Given the description of an element on the screen output the (x, y) to click on. 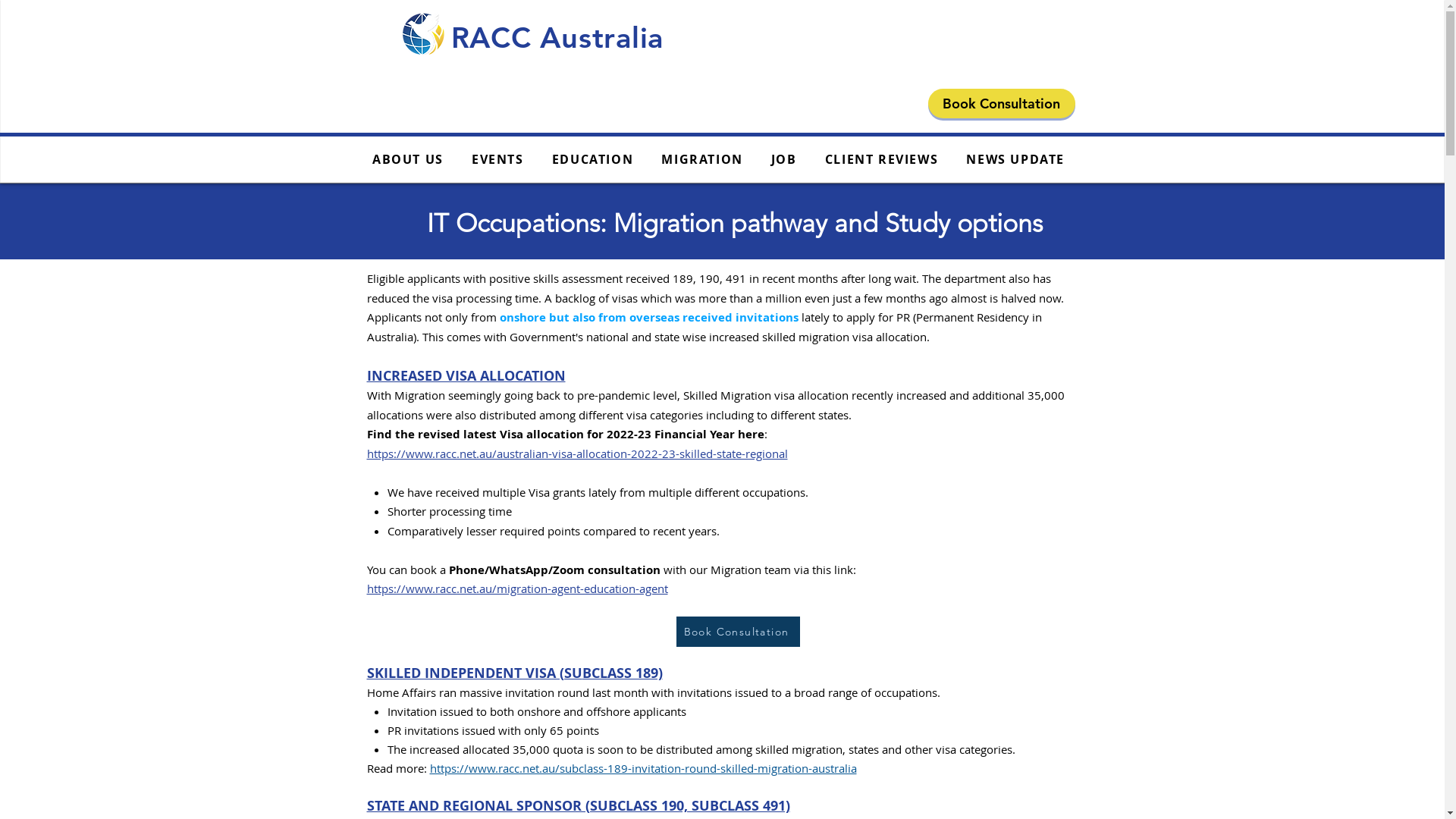
MIGRATION Element type: text (702, 159)
NEWS UPDATE Element type: text (1015, 159)
Book Consultation Element type: text (1001, 103)
RACC Australia Element type: text (556, 37)
EDUCATION Element type: text (592, 159)
ABOUT US Element type: text (407, 159)
https://www.racc.net.au/migration-agent-education-agent Element type: text (517, 588)
EVENTS Element type: text (497, 159)
JOB Element type: text (783, 159)
Site Search Element type: hover (828, 27)
CLIENT REVIEWS Element type: text (881, 159)
Book Consultation Element type: text (738, 630)
